Given the description of an element on the screen output the (x, y) to click on. 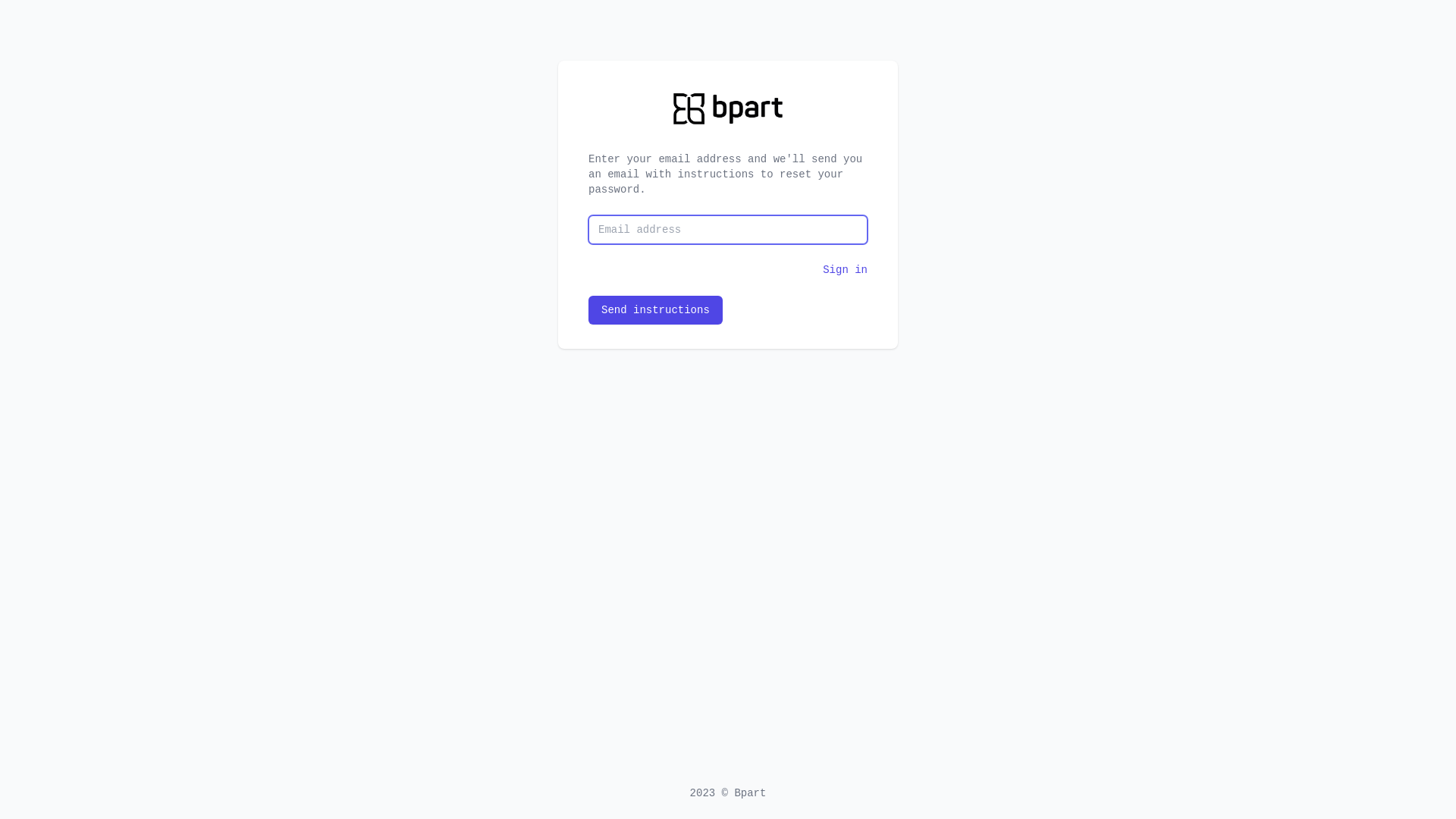
Sign in Element type: text (844, 269)
Send instructions Element type: text (655, 309)
